Given the description of an element on the screen output the (x, y) to click on. 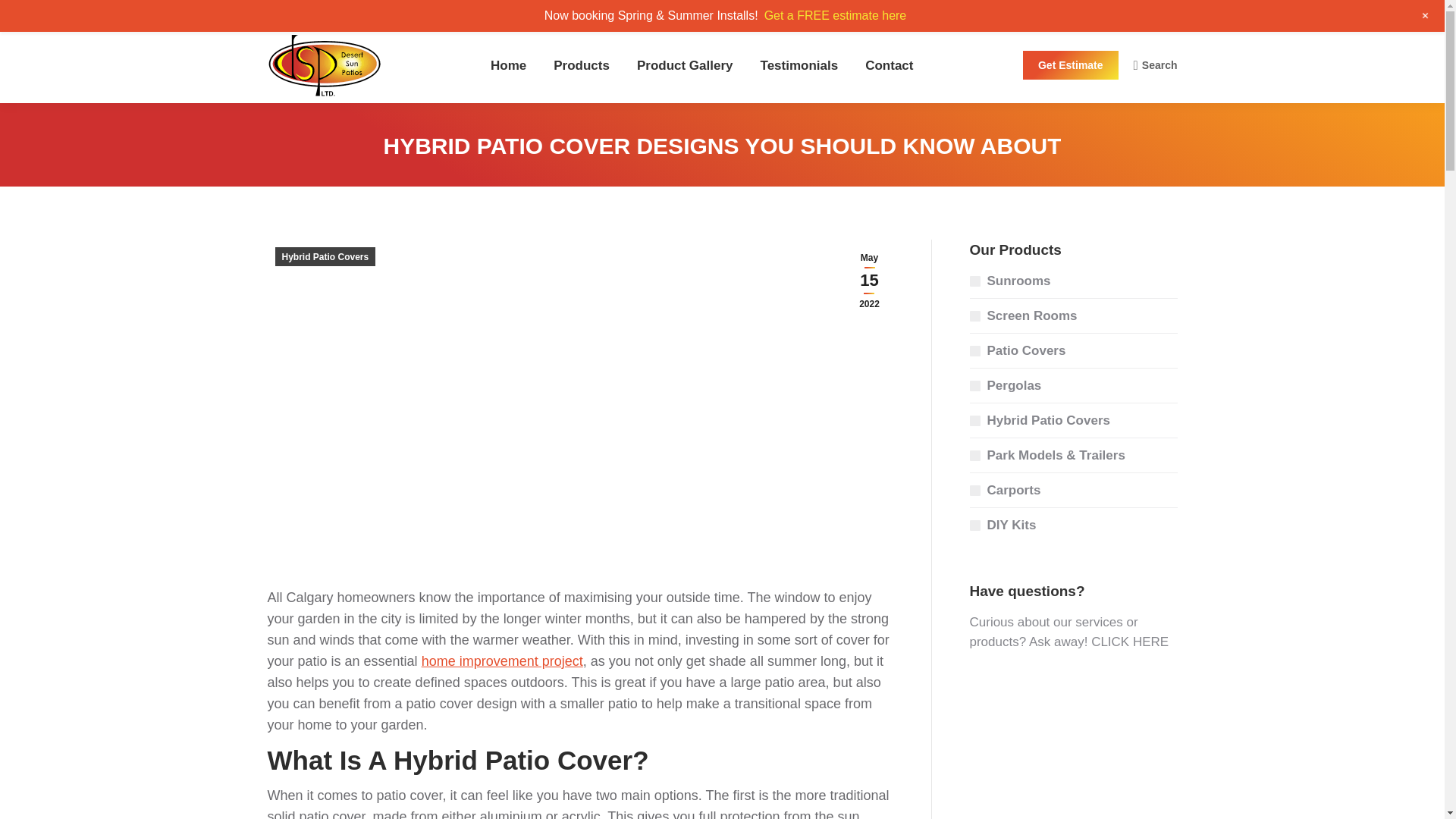
Products (581, 64)
Product Gallery (684, 64)
X page opens in new window (1121, 13)
X page opens in new window (1121, 13)
Promotions (937, 13)
Get Estimate (1070, 64)
403 692 0820 (329, 12)
YouTube page opens in new window (1166, 13)
YouTube page opens in new window (1166, 13)
About Us (1008, 13)
